Given the description of an element on the screen output the (x, y) to click on. 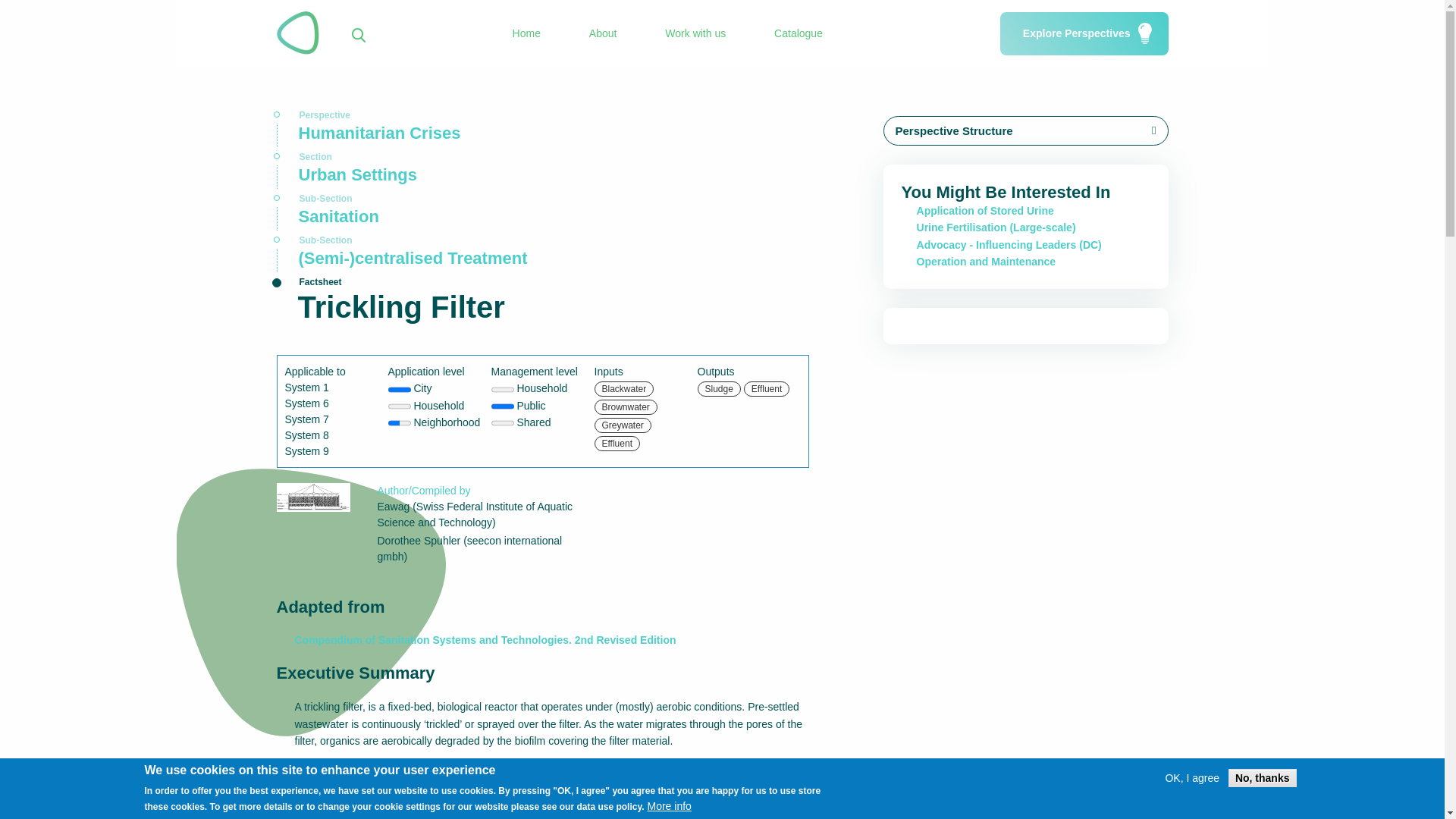
Urban Settings (542, 177)
Sanitation (542, 218)
Home (526, 32)
Catalogue (798, 32)
Humanitarian Crises (542, 135)
Explore Perspectives (1084, 33)
Work with us (695, 32)
About (603, 32)
Search (900, 48)
